Given the description of an element on the screen output the (x, y) to click on. 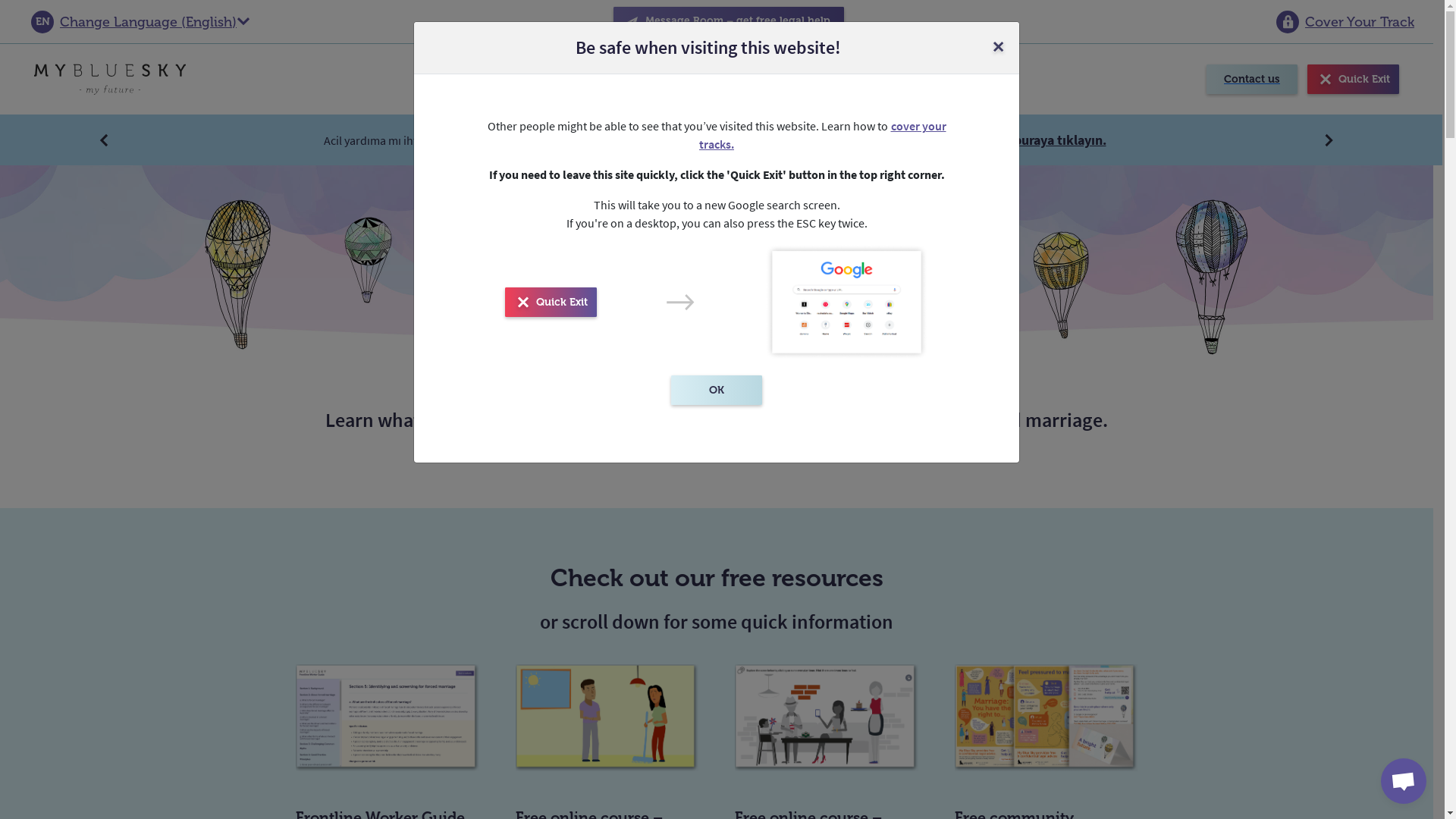
EN
Change Language (English) Element type: text (140, 21)
Next Element type: text (1329, 139)
Quick Exit Element type: text (1353, 79)
cover your tracks. Element type: text (822, 134)
Contact us Element type: text (1251, 79)
Quick Exit Element type: text (550, 301)
About My Blue Sky Element type: text (891, 78)
OK Element type: text (716, 389)
Help someone else Element type: text (585, 78)
Get help Element type: text (470, 78)
Cover Your Track Element type: text (1345, 21)
About forced marriage Element type: text (739, 78)
